Given the description of an element on the screen output the (x, y) to click on. 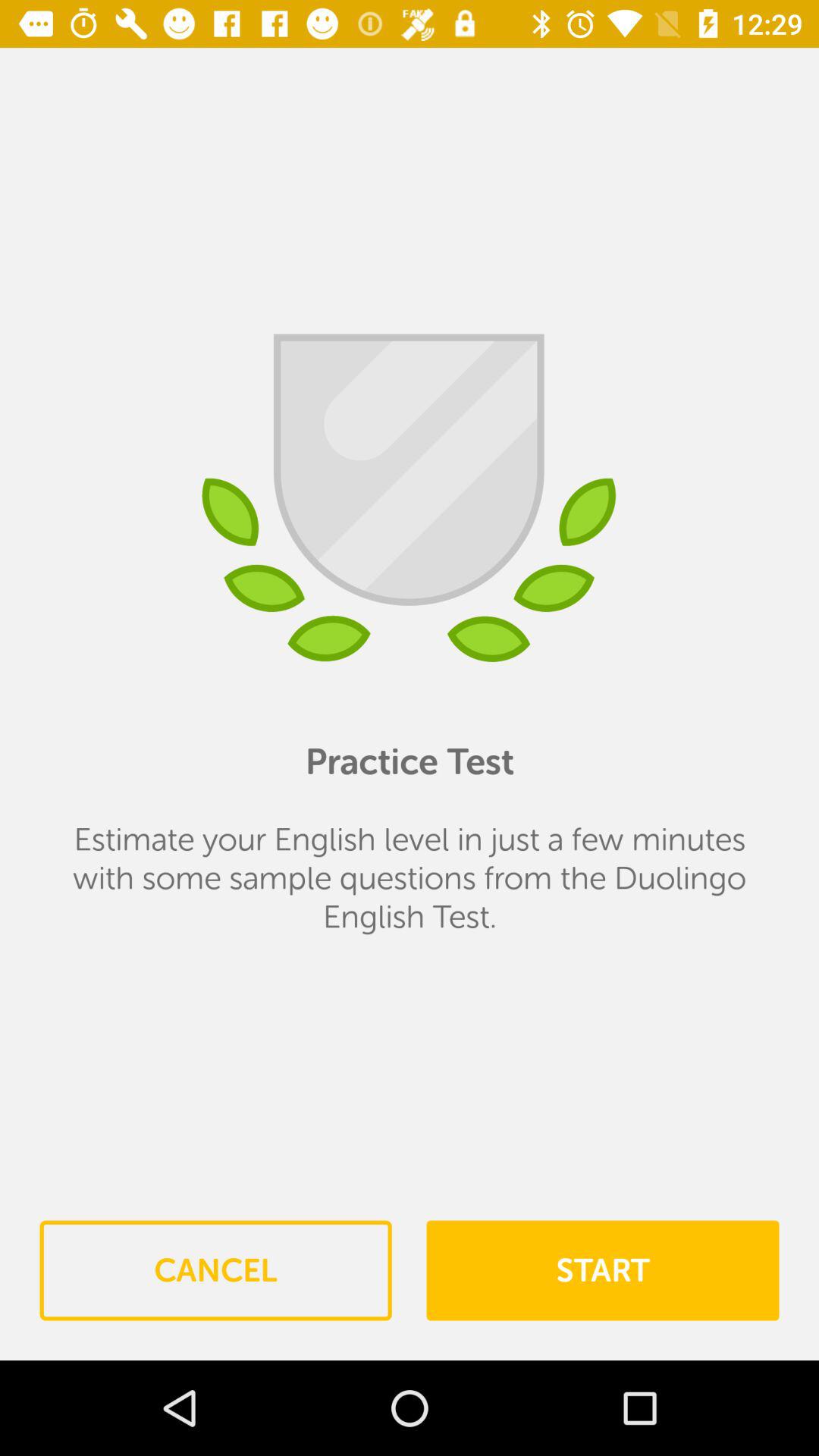
press the cancel item (215, 1270)
